Given the description of an element on the screen output the (x, y) to click on. 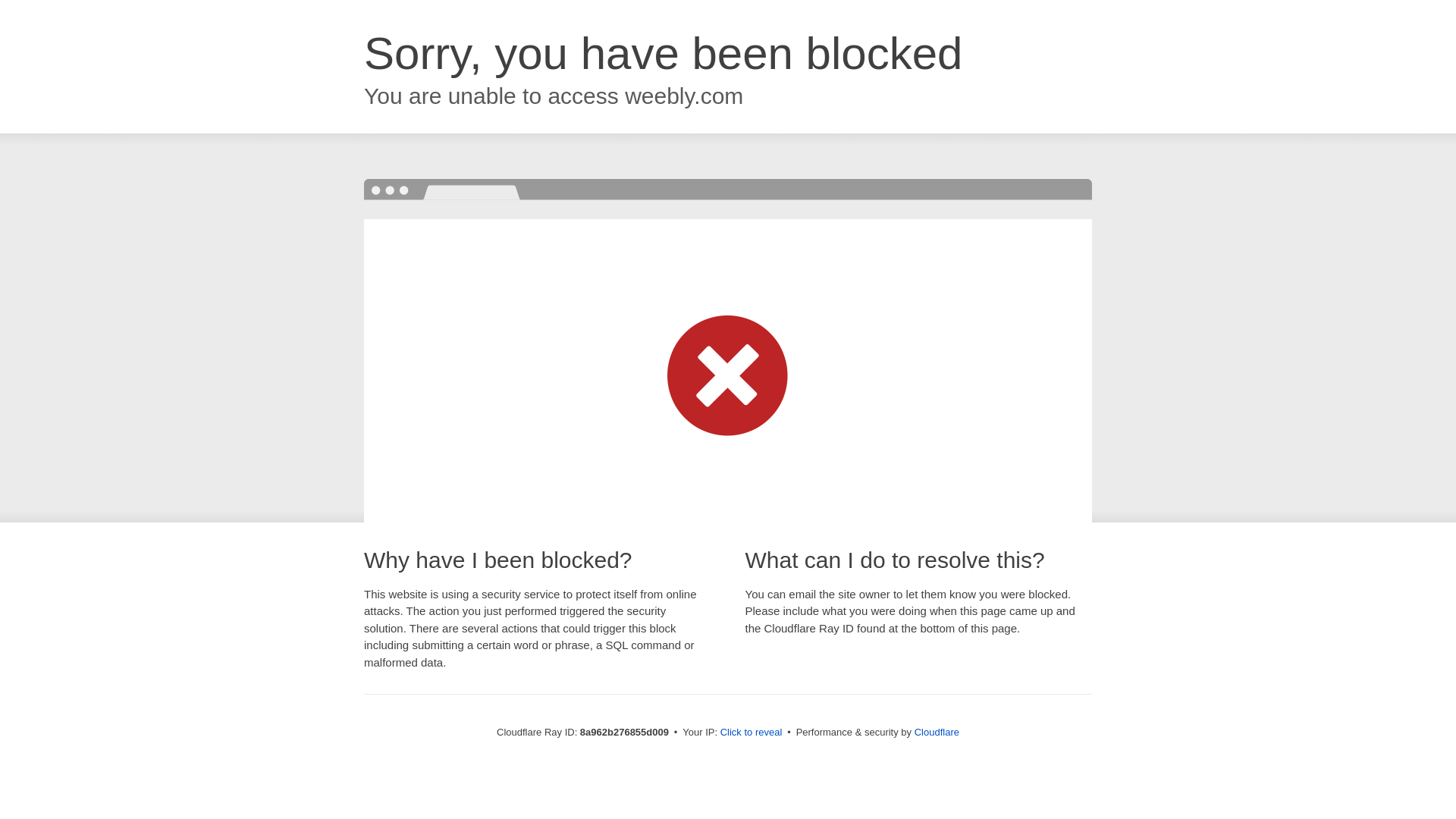
Cloudflare (936, 731)
Click to reveal (751, 732)
